Given the description of an element on the screen output the (x, y) to click on. 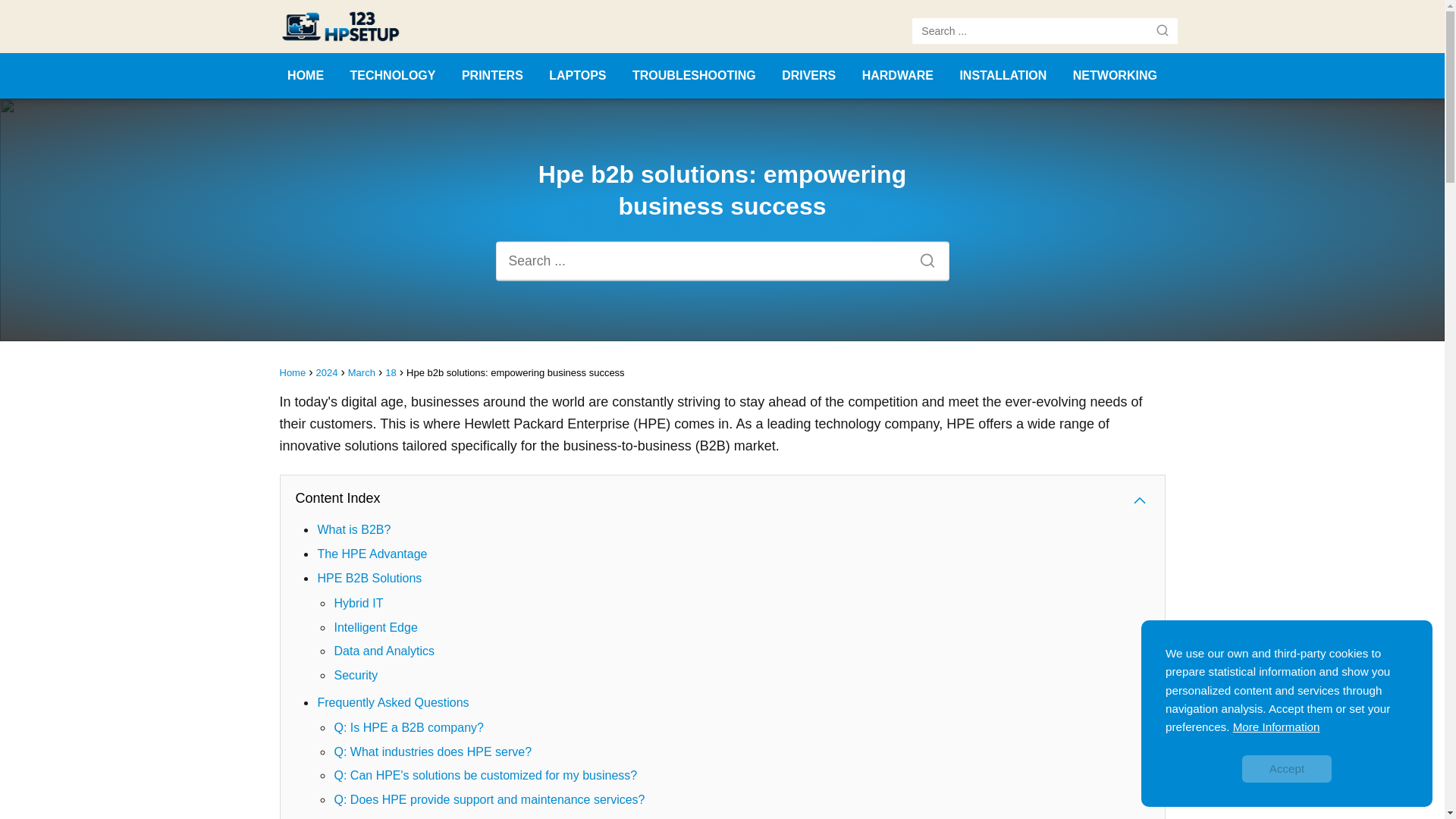
Q: Can HPE's solutions be customized for my business? (485, 775)
Intelligent Edge (374, 626)
Frequently Asked Questions (392, 702)
Hybrid IT (357, 603)
2024 (326, 372)
Intelligent Edge (374, 626)
Data and Analytics (383, 650)
HPE B2B Solutions (369, 577)
What is B2B? (353, 529)
Home (292, 372)
18 (390, 372)
LAPTOPS (576, 74)
The HPE Advantage (371, 553)
PRINTERS (491, 74)
Data and Analytics (383, 650)
